Given the description of an element on the screen output the (x, y) to click on. 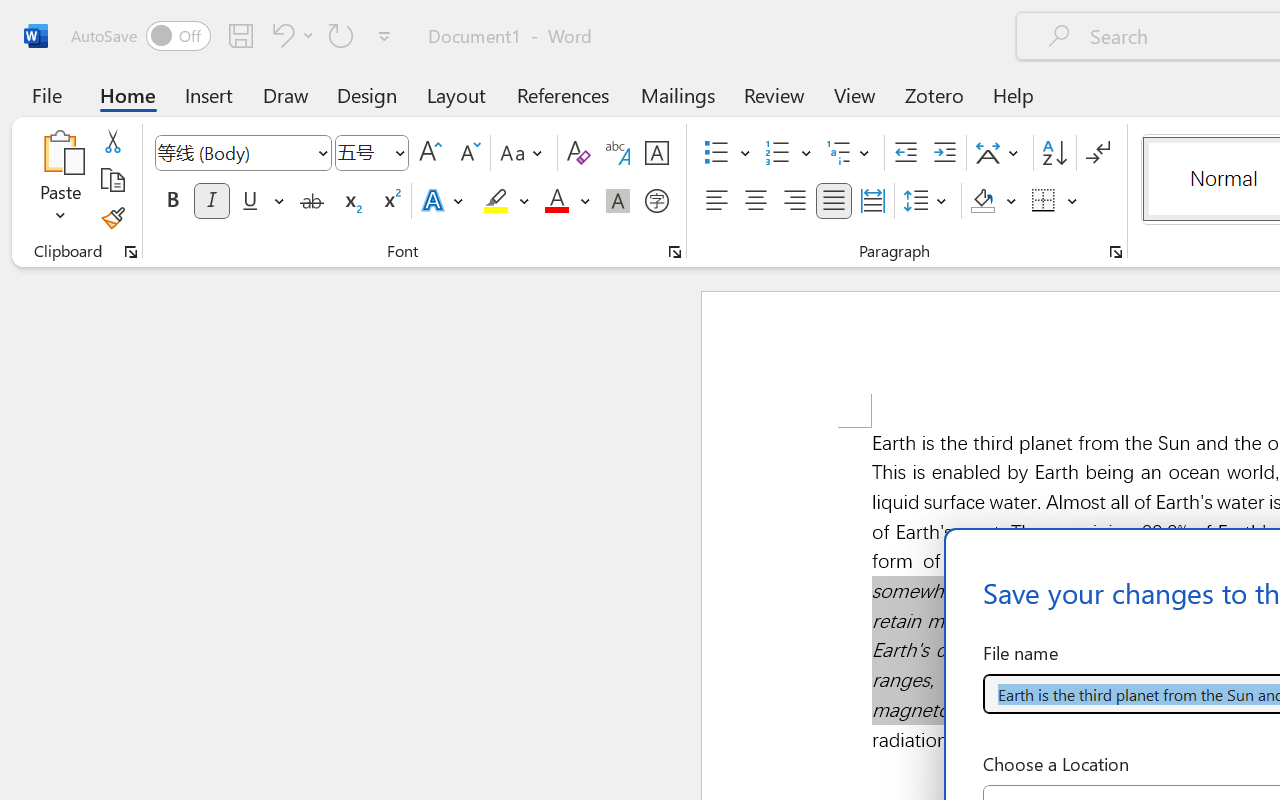
Multilevel List (850, 153)
Font Color Red (556, 201)
Repeat Italic (341, 35)
Shading RGB(0, 0, 0) (982, 201)
Text Highlight Color Yellow (495, 201)
Change Case (524, 153)
Help (1013, 94)
